Given the description of an element on the screen output the (x, y) to click on. 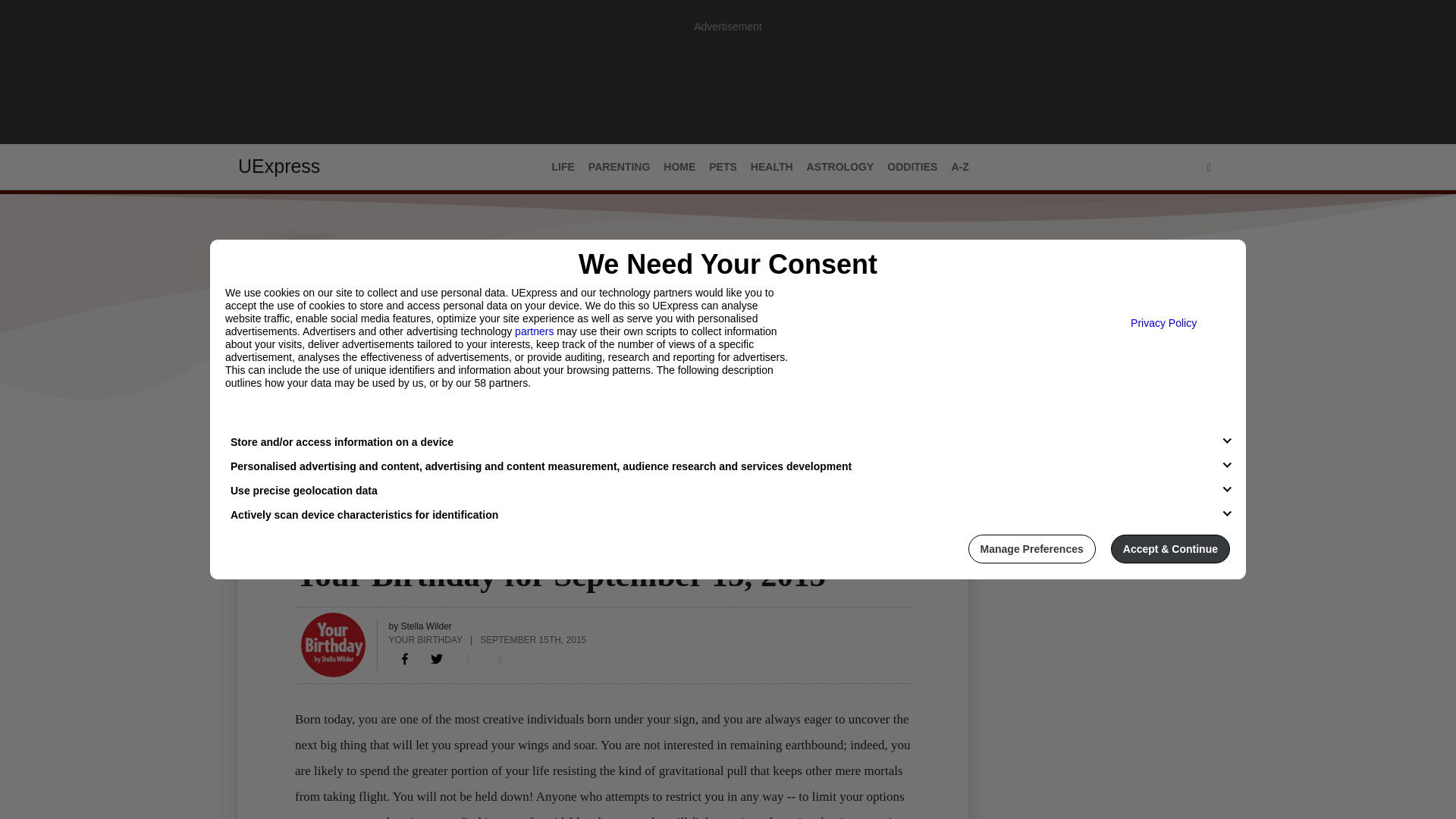
Archives (371, 431)
HEALTH (771, 166)
ODDITIES (911, 166)
LIFE (562, 166)
ASTROLOGY (328, 545)
A-Z (959, 166)
Latest (256, 431)
HOME (678, 166)
About (309, 431)
PARENTING (618, 166)
Your Birthday for September 15, 2015 (404, 658)
PETS (722, 166)
YOUR BIRTHDAY (425, 639)
ASTROLOGY (839, 166)
UExpress (279, 166)
